Given the description of an element on the screen output the (x, y) to click on. 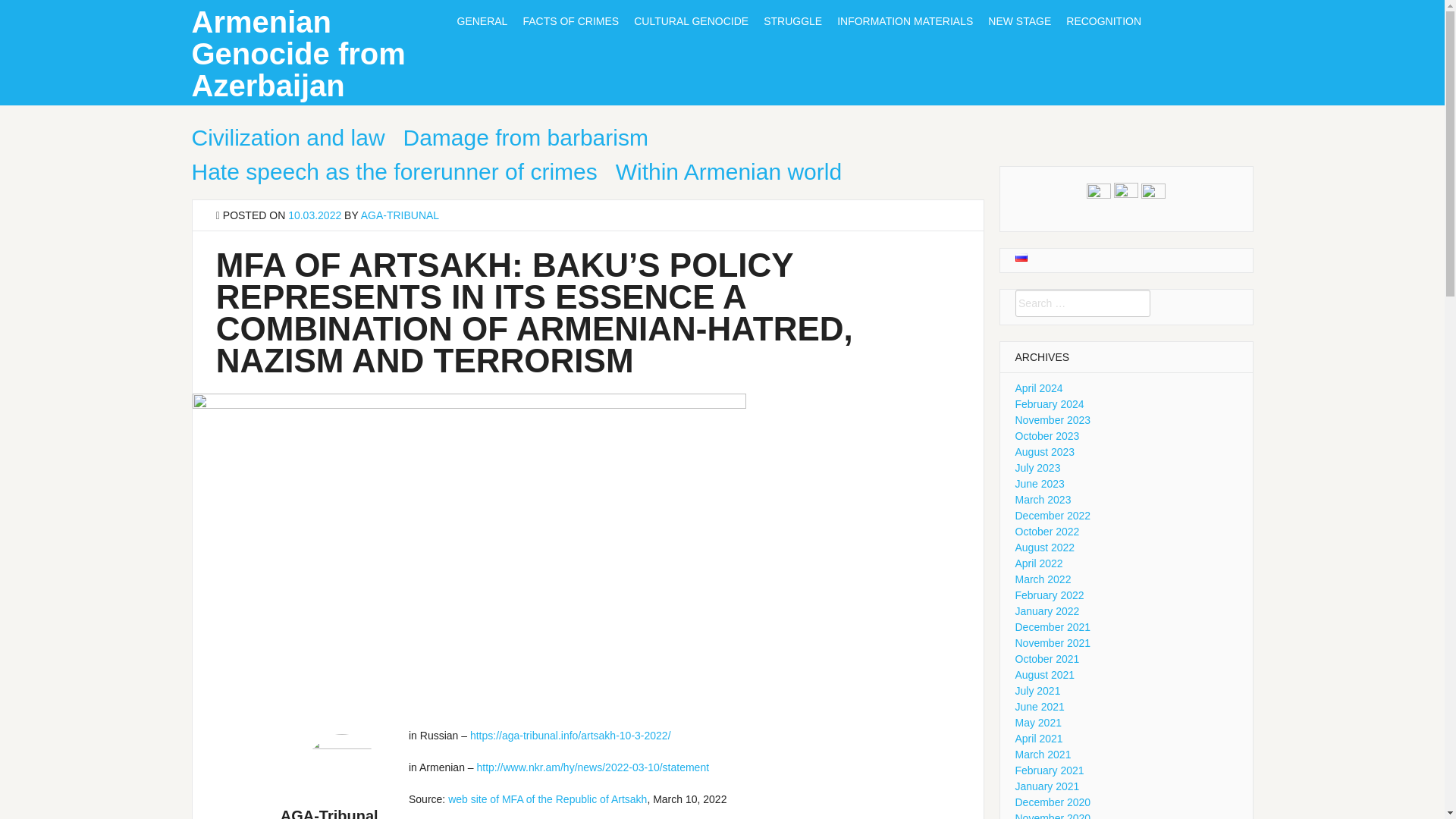
NEW STAGE (1018, 20)
FACTS OF CRIMES (570, 20)
CULTURAL GENOCIDE (690, 20)
GENERAL (481, 20)
Armenian Genocide from Azerbaijan (297, 53)
Armenian Genocide from Azerbaijan (297, 53)
INFORMATION MATERIALS (904, 20)
STRUGGLE (792, 20)
